Given the description of an element on the screen output the (x, y) to click on. 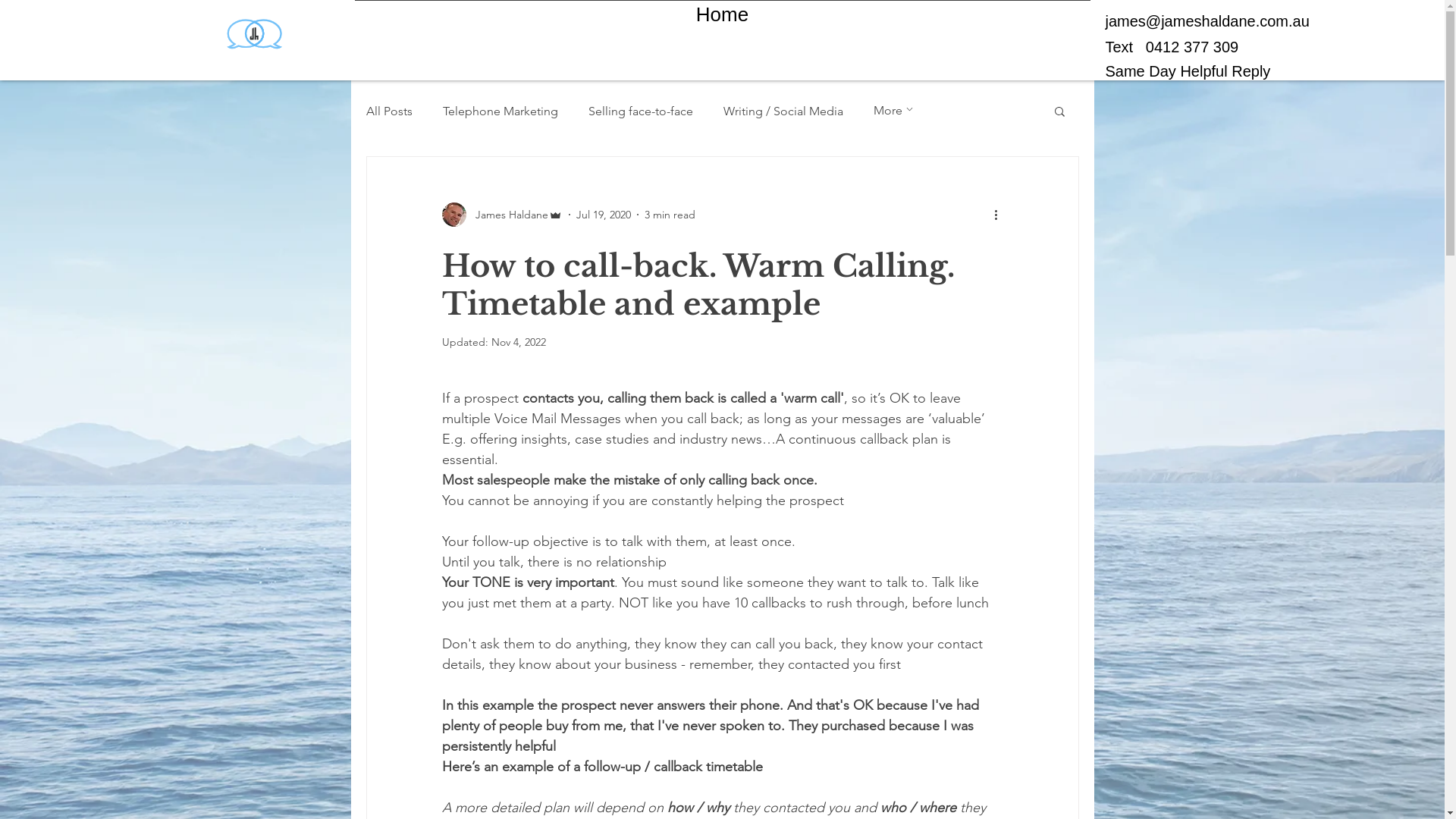
James Haldane Element type: text (501, 214)
Writing / Social Media Element type: text (783, 110)
Selling face-to-face Element type: text (640, 110)
james@jameshaldane.com.au Element type: text (1207, 20)
Telephone Marketing Element type: text (500, 110)
All Posts Element type: text (388, 110)
